Given the description of an element on the screen output the (x, y) to click on. 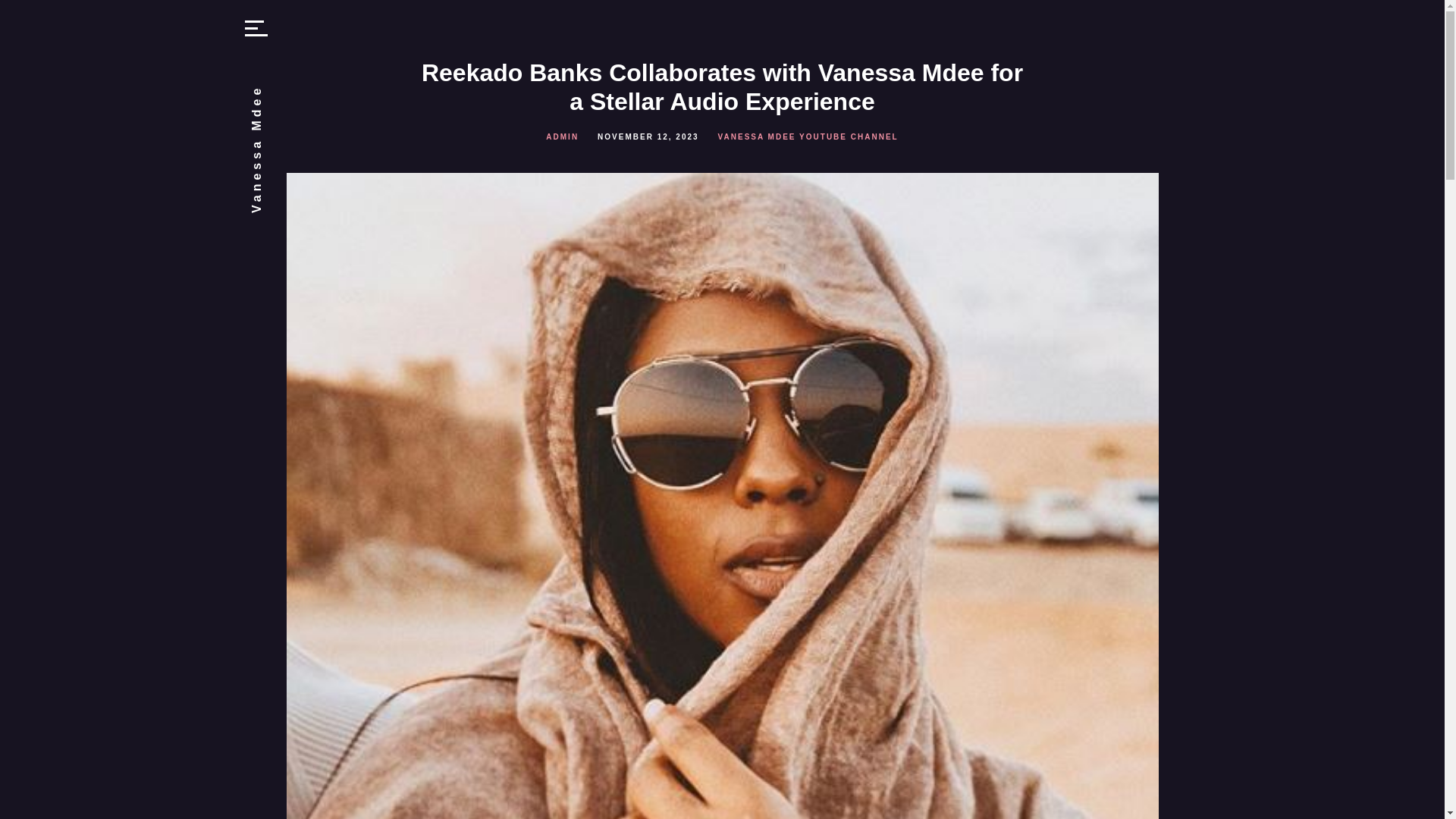
VANESSA MDEE YOUTUBE CHANNEL (807, 136)
ADMIN (562, 136)
Vanessa Mdee (314, 91)
Posts by admin (562, 136)
